Given the description of an element on the screen output the (x, y) to click on. 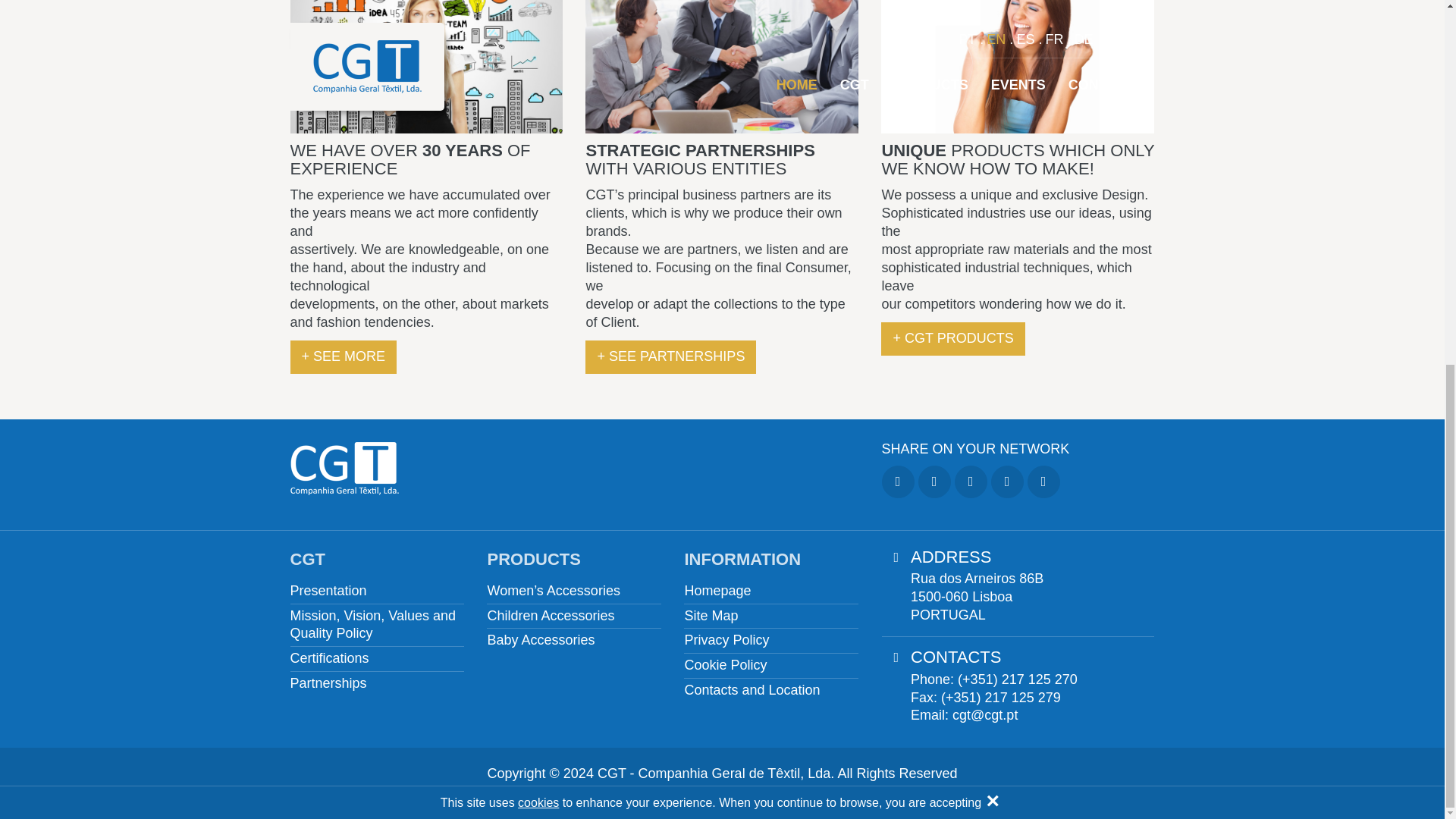
Share (1043, 481)
Website development (768, 791)
Partnerships (327, 683)
Linkedin (971, 481)
Email (1007, 481)
Facebook (897, 481)
Twitter (934, 481)
Presentation (327, 591)
Certifications (328, 659)
Mission, Vision, Values and Quality Policy (376, 625)
